Given the description of an element on the screen output the (x, y) to click on. 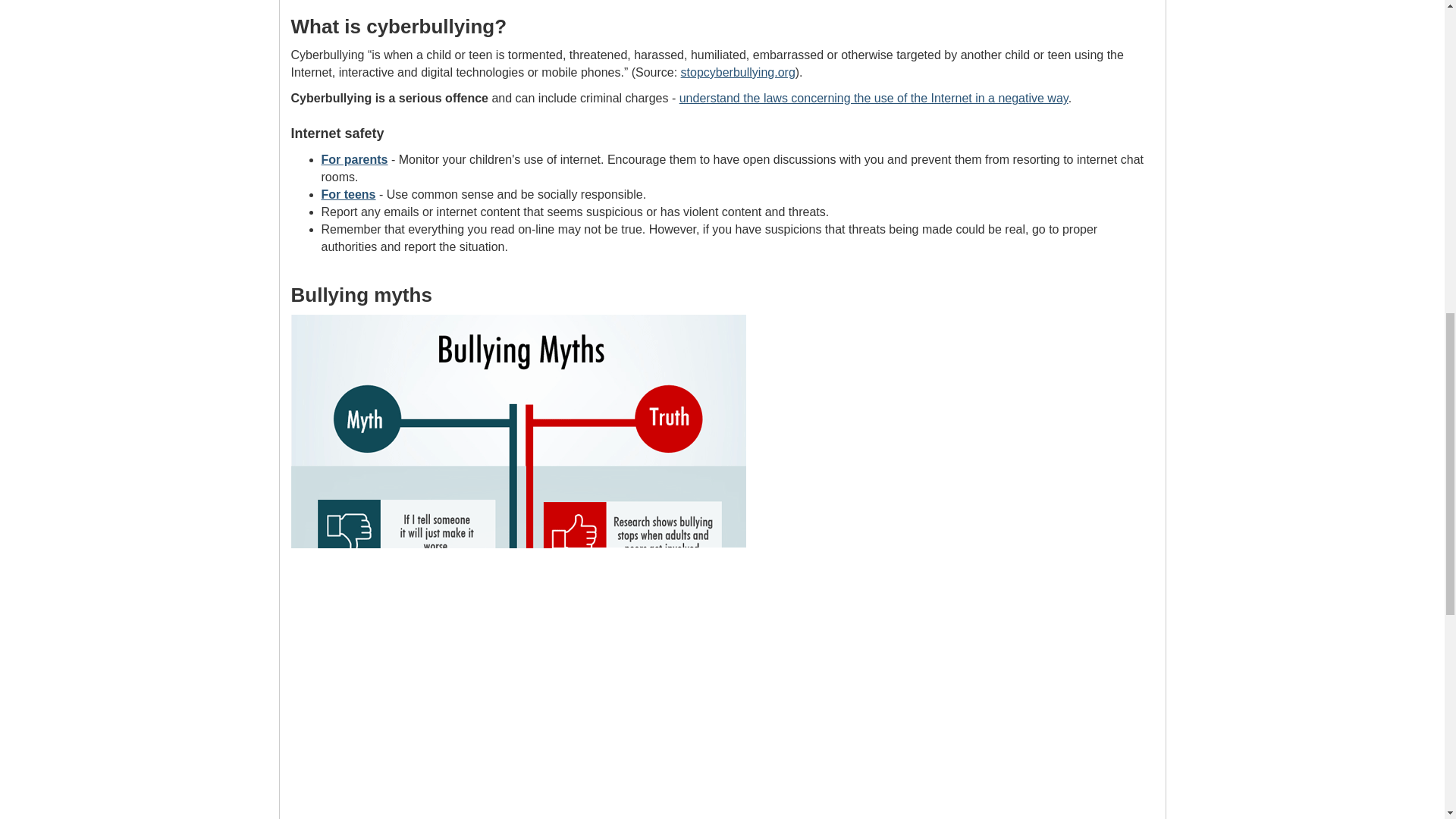
For parents (354, 159)
stopcyberbullying.org (737, 72)
For teens (348, 194)
